Given the description of an element on the screen output the (x, y) to click on. 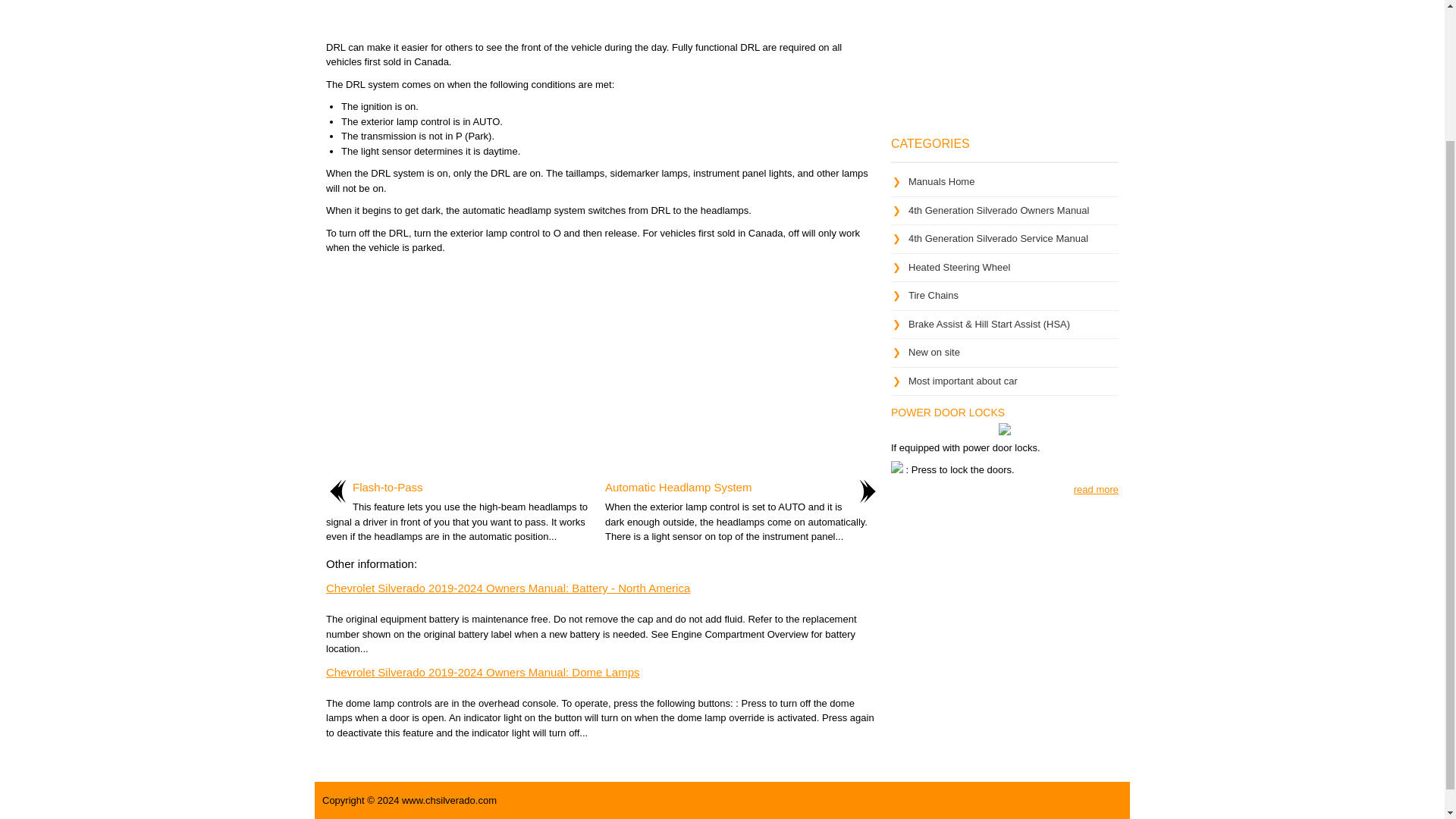
4th Generation Silverado Service Manual (997, 238)
Heated Steering Wheel (959, 266)
POWER DOOR LOCKS (947, 412)
New on site (933, 351)
Chevrolet Silverado Service Manual (1004, 241)
Most important about car (962, 379)
Tire Chains (933, 295)
Chevrolet Silverado Owners Manual (1004, 214)
read more (1096, 489)
Flash-to-Pass (387, 486)
Manuals Home (941, 181)
Tire Chains (933, 295)
Chevrolet Silverado 2019-2024 Owners Manual: Dome Lamps (483, 671)
Automatic Headlamp System (678, 486)
